Given the description of an element on the screen output the (x, y) to click on. 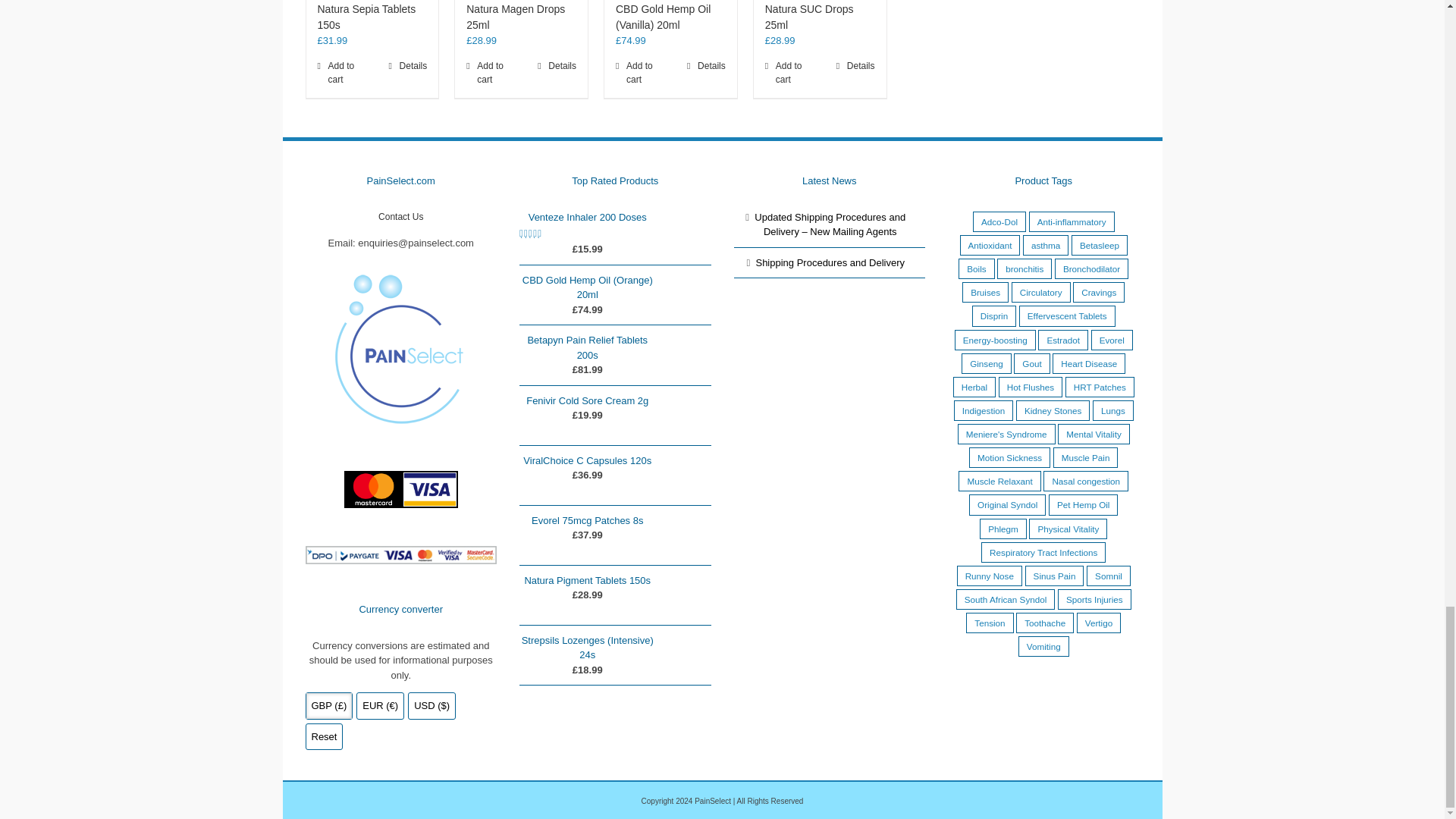
Original price:28.99 (480, 40)
Original price:74.99 (630, 40)
Original price:15.99 (587, 247)
Original price:28.99 (779, 40)
Original price:31.99 (332, 40)
Original price:19.99 (587, 413)
Original price:74.99 (587, 308)
Original price:81.99 (587, 368)
Mastercard and Visa Accepted (400, 488)
Payments secured by DPO PayGate (400, 555)
